Given the description of an element on the screen output the (x, y) to click on. 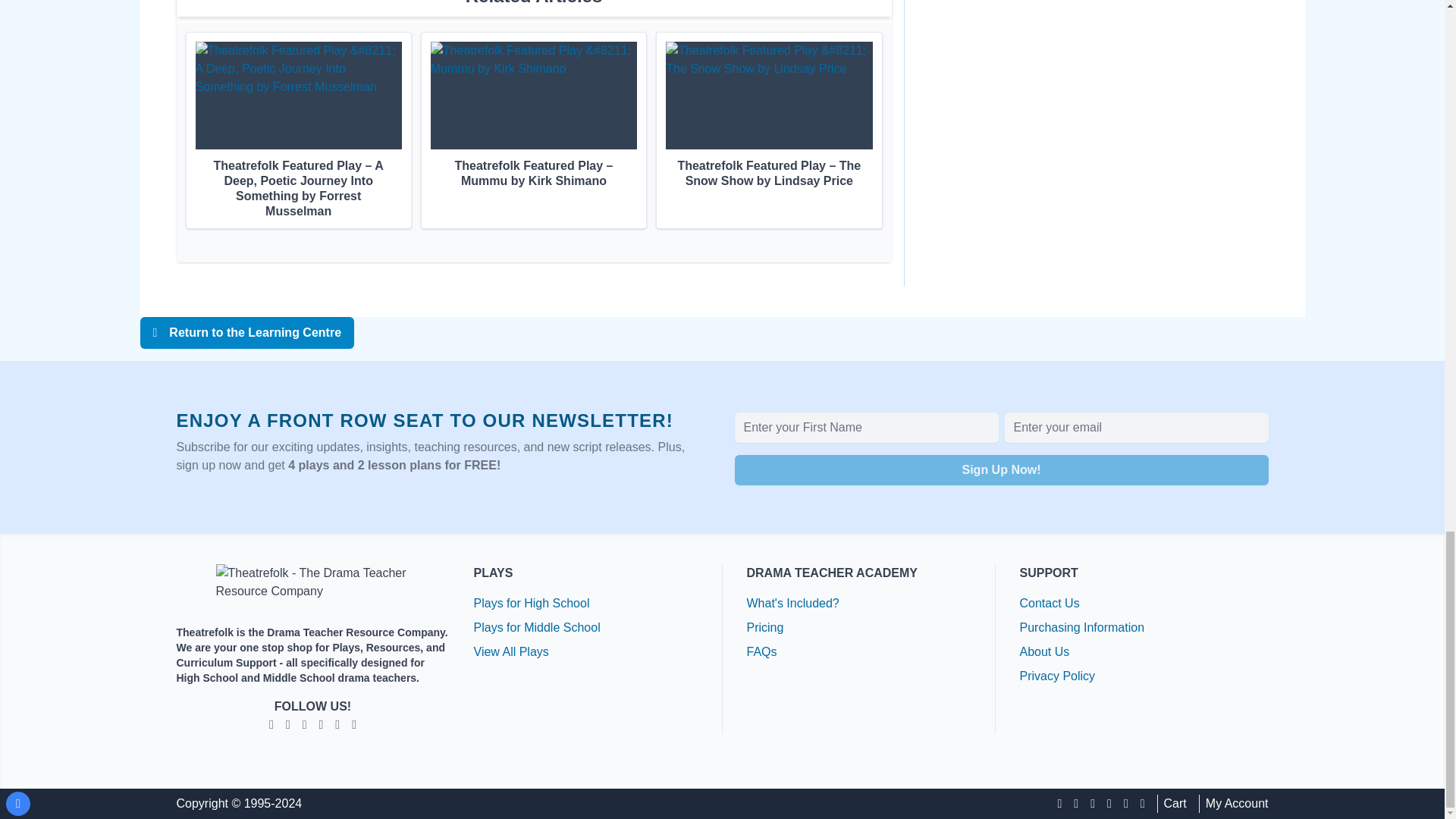
Sign Up Now! (1000, 470)
